Given the description of an element on the screen output the (x, y) to click on. 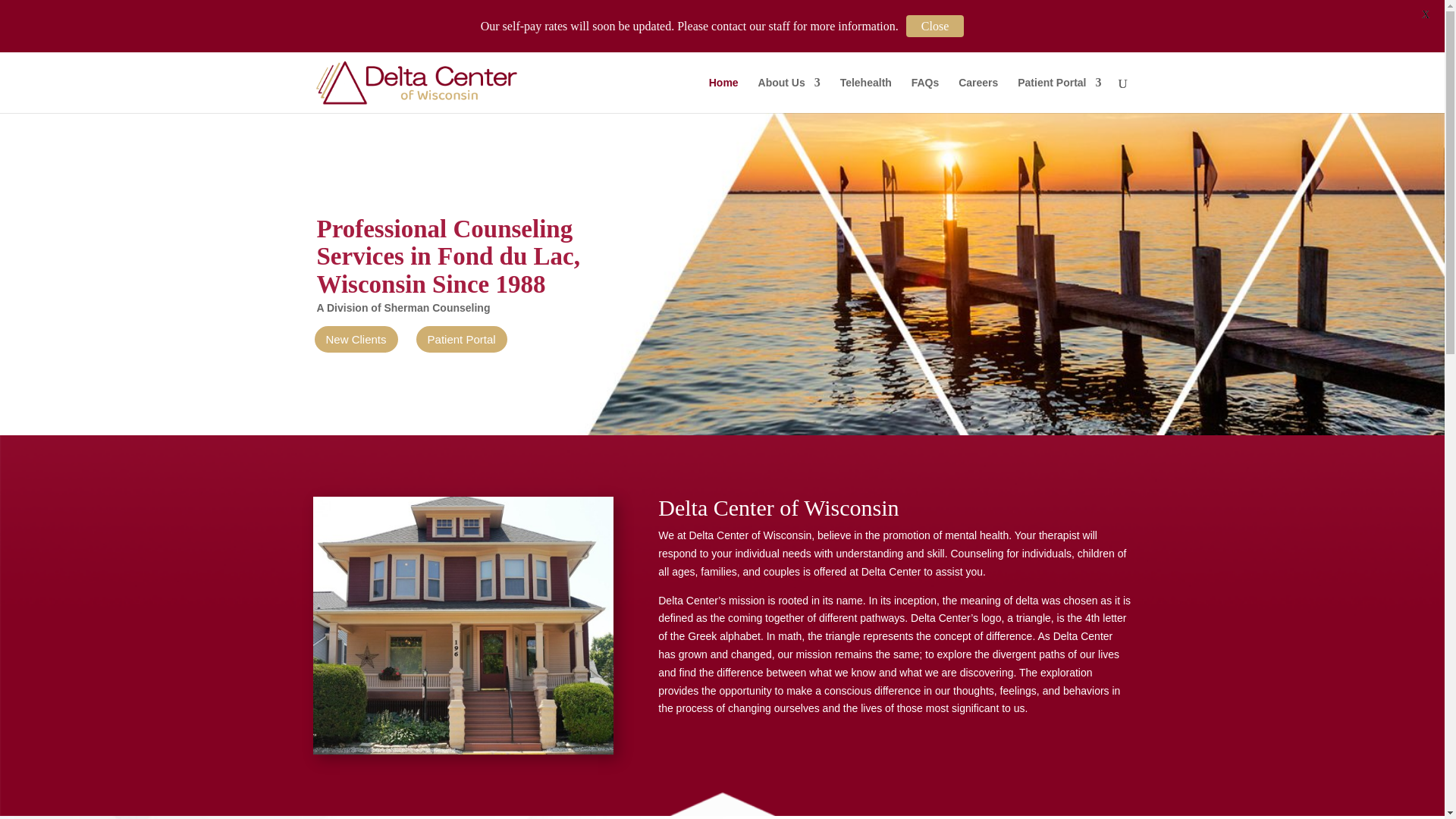
Delta Center Office (462, 625)
New Clients (355, 338)
Patient Portal (461, 338)
Patient Portal (1058, 94)
Close (934, 25)
About Us (789, 94)
Careers (977, 94)
Telehealth (865, 94)
